Given the description of an element on the screen output the (x, y) to click on. 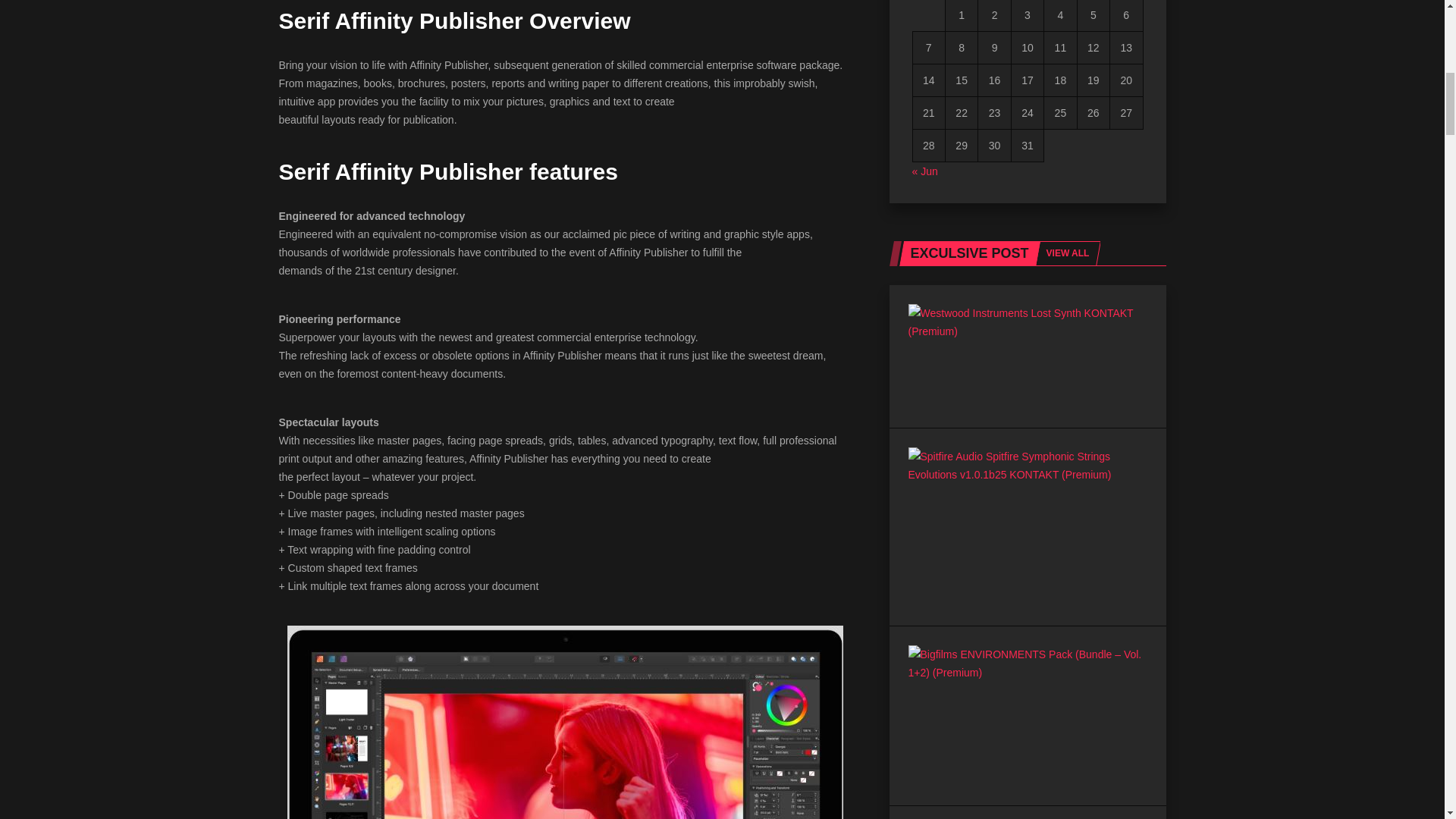
Search (727, 378)
